Given the description of an element on the screen output the (x, y) to click on. 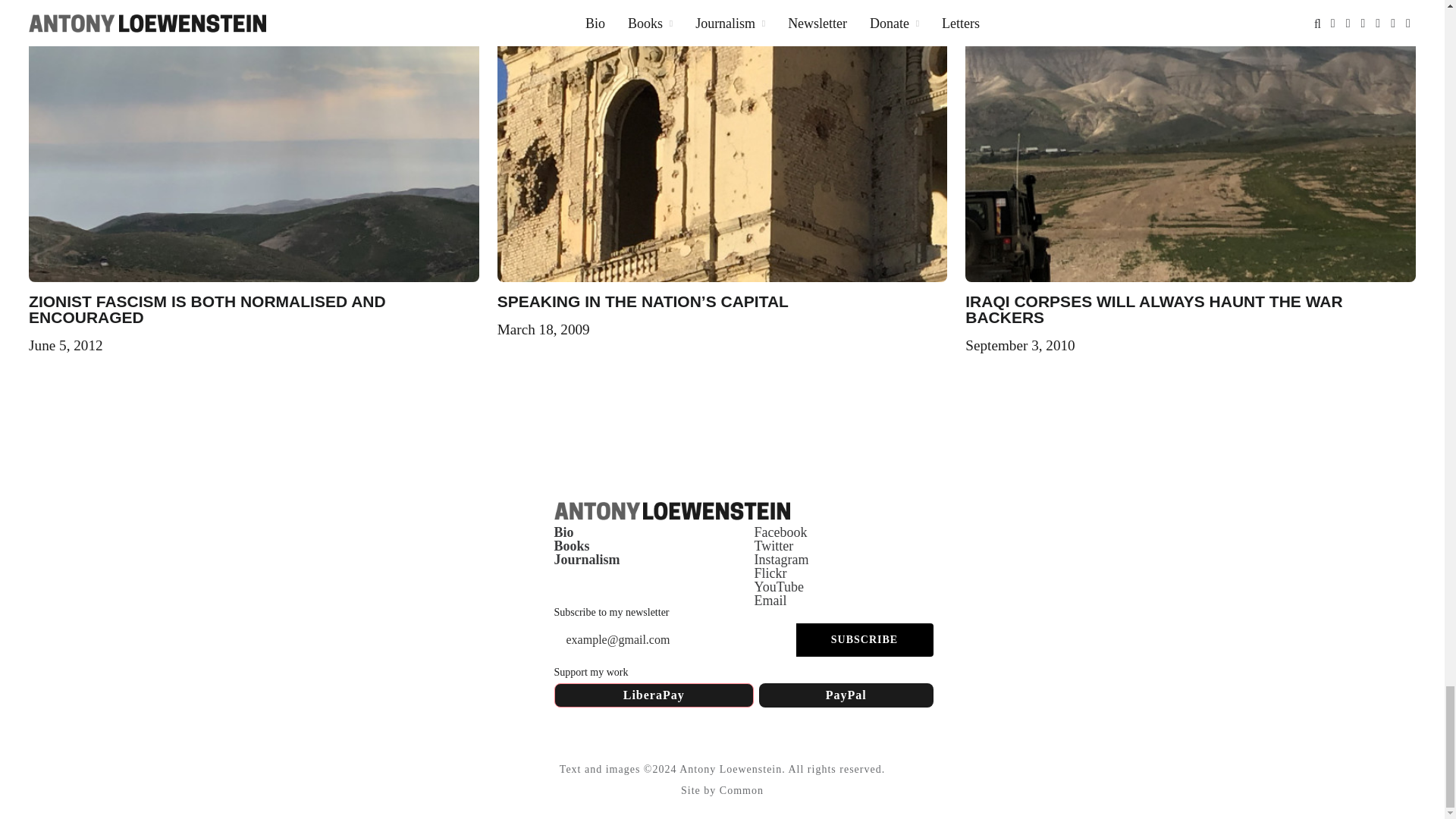
PayPal (845, 695)
